Given the description of an element on the screen output the (x, y) to click on. 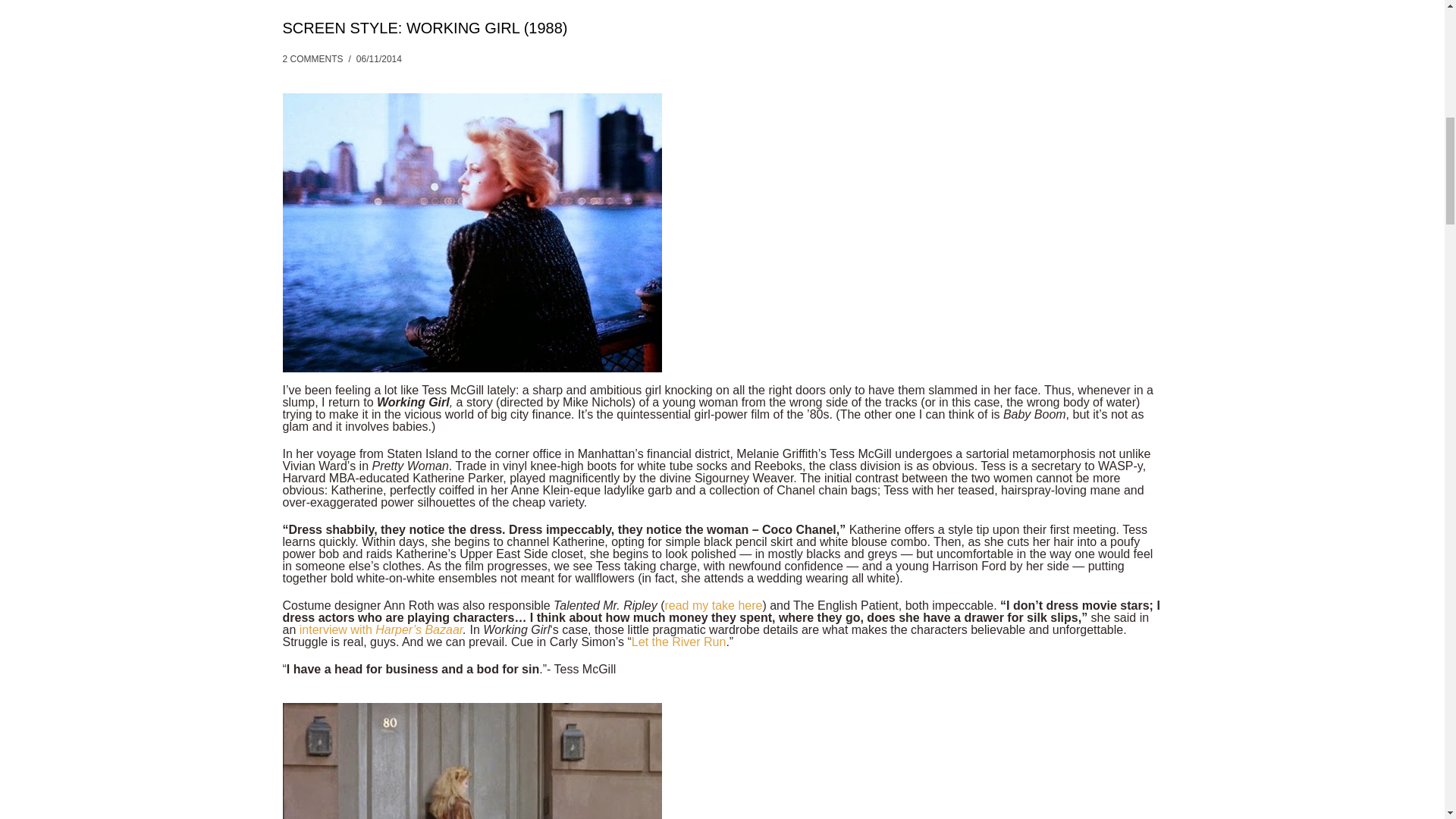
interview with (337, 629)
2 COMMENTS (312, 59)
read my take here (712, 604)
Let the River Run (678, 641)
